Given the description of an element on the screen output the (x, y) to click on. 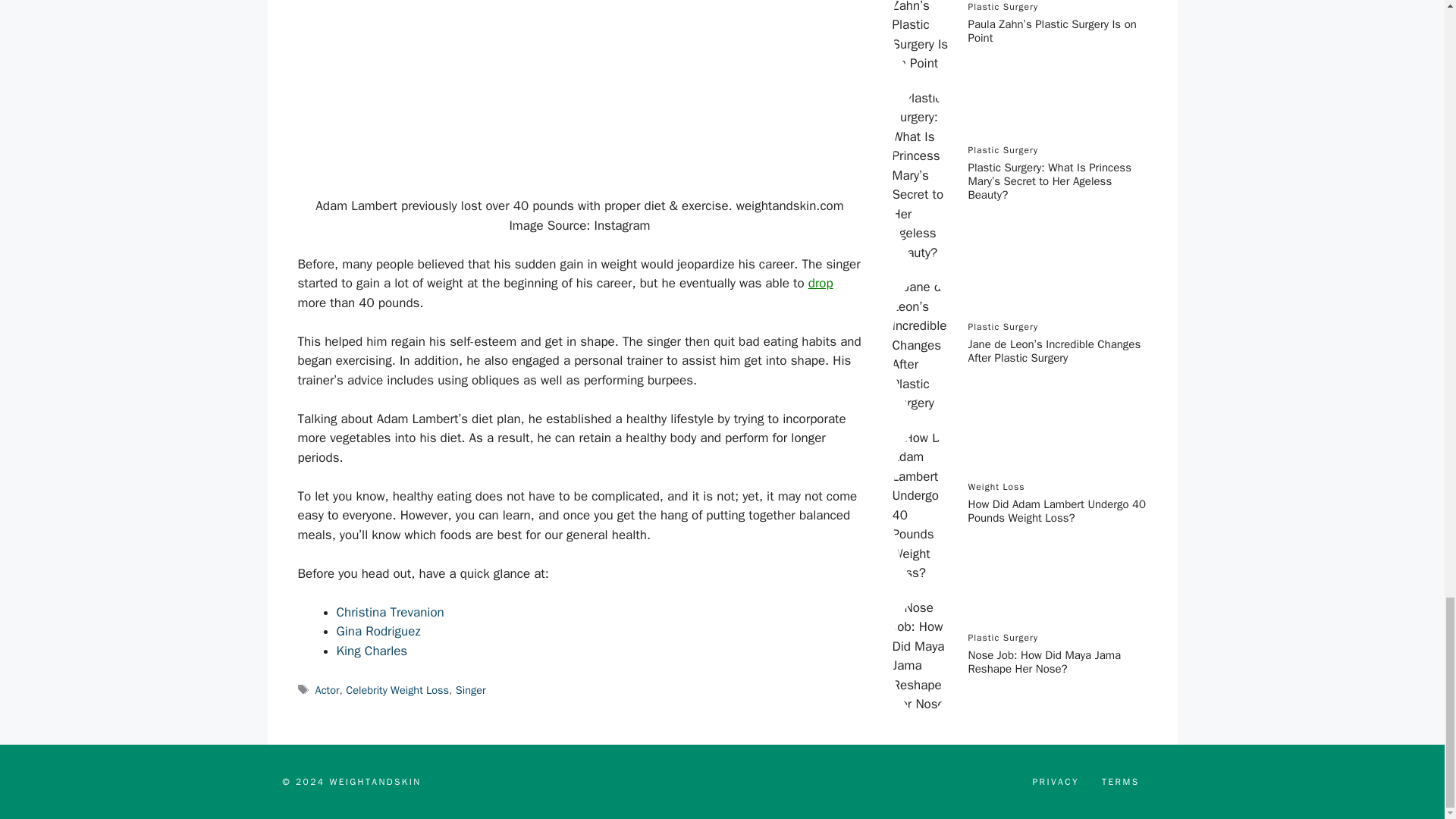
Singer (470, 689)
PRIVACY (1055, 781)
Christina Trevanion  (392, 611)
King Charles  (374, 650)
How Did Adam Lambert Undergo 40 Pounds Weight Loss? 2 (579, 98)
drop (820, 283)
Celebrity Weight Loss (397, 689)
Actor (327, 689)
Gina Rodriguez  (380, 631)
TERMS (1120, 781)
